Given the description of an element on the screen output the (x, y) to click on. 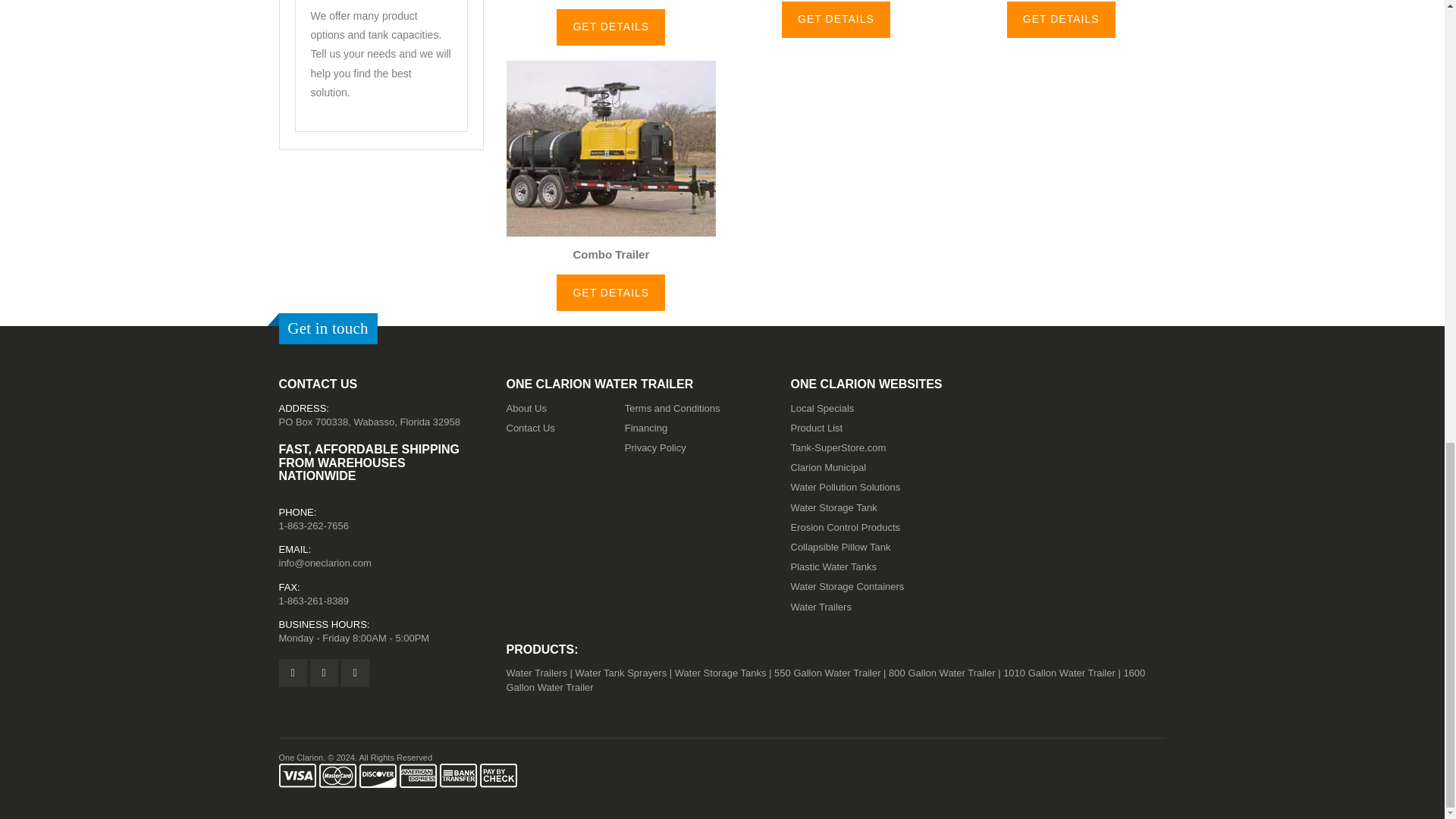
Get Details (610, 292)
Get Details (1061, 19)
Get Details (835, 19)
Get Details (610, 27)
